Given the description of an element on the screen output the (x, y) to click on. 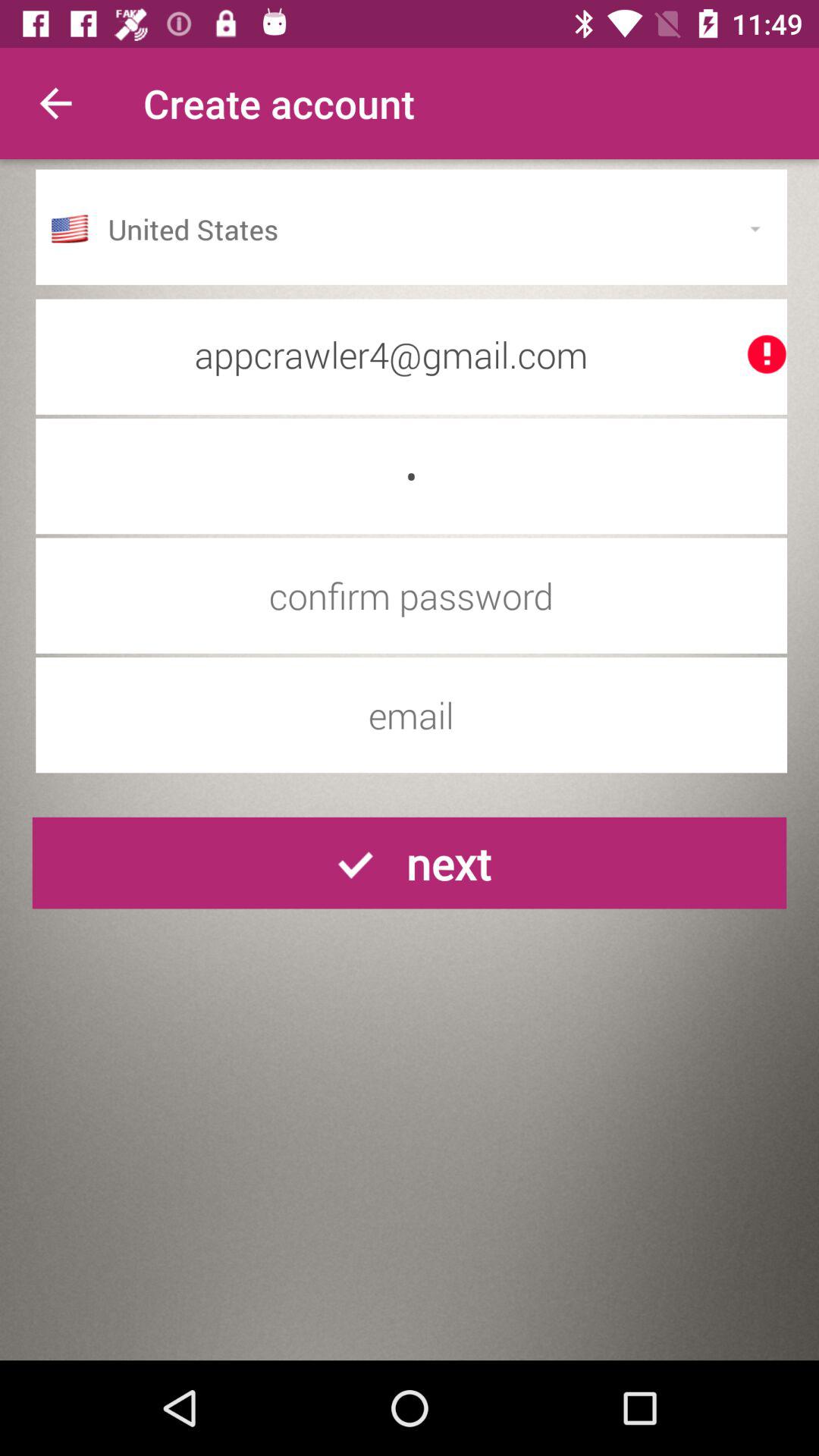
click item next to create account (55, 103)
